Given the description of an element on the screen output the (x, y) to click on. 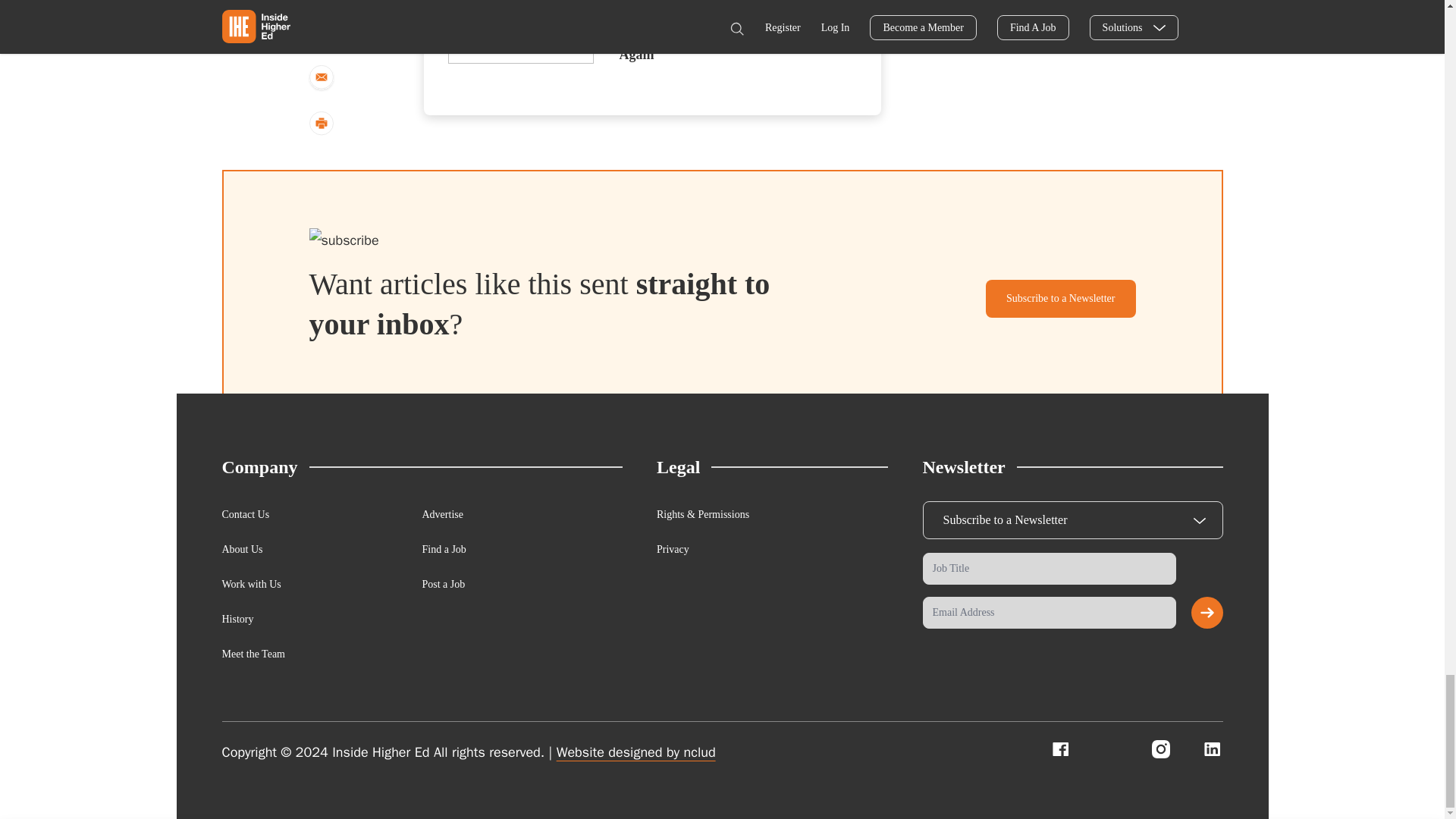
Submit (1207, 612)
